Given the description of an element on the screen output the (x, y) to click on. 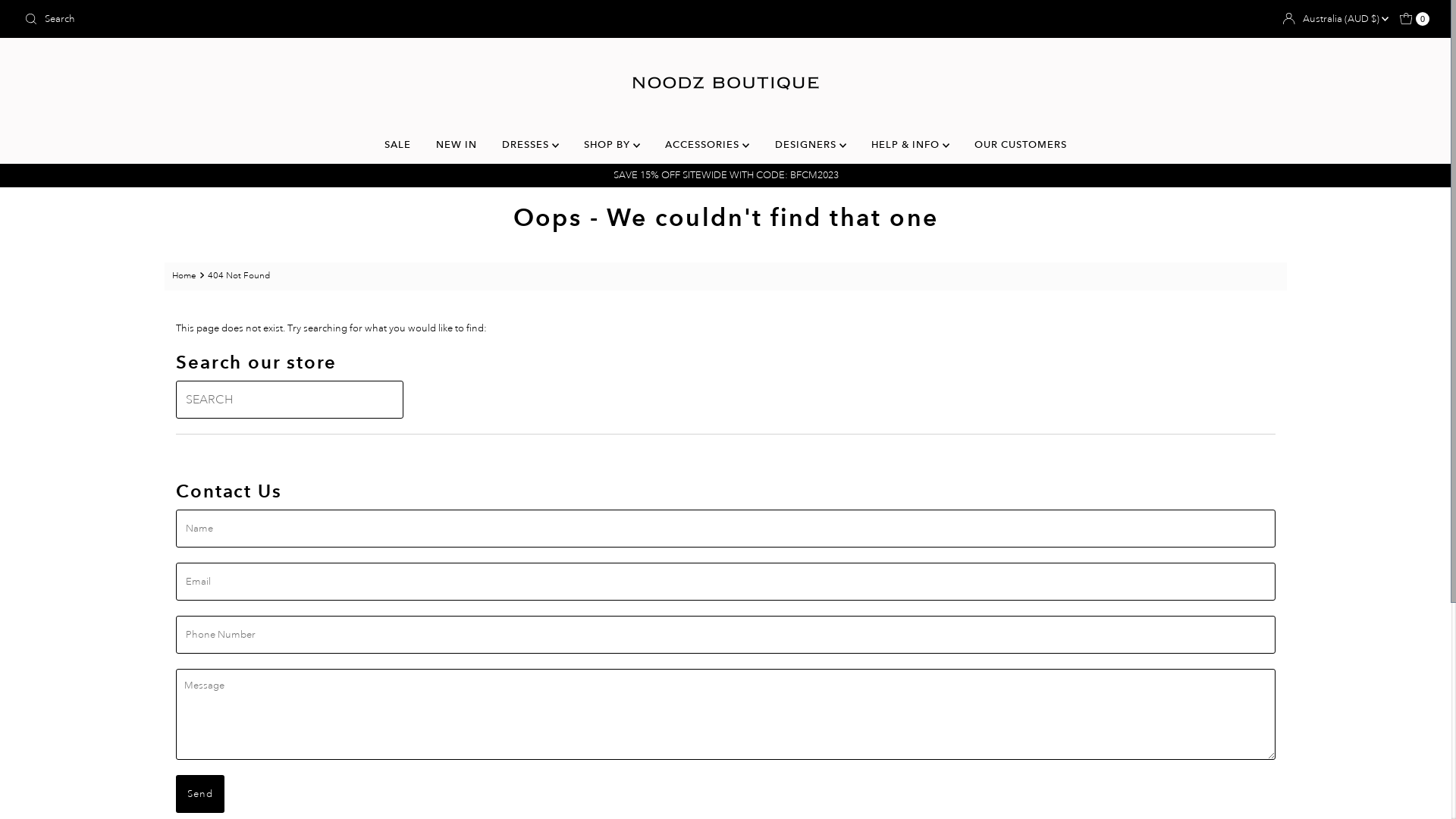
NEW IN Element type: text (456, 144)
Home Element type: text (186, 276)
Australia (AUD $)  Element type: text (1345, 19)
Send Element type: text (199, 793)
0 Element type: text (1414, 18)
Search our store Element type: hover (289, 399)
SALE Element type: text (397, 144)
Search our store Element type: hover (249, 18)
OUR CUSTOMERS Element type: text (1020, 144)
